Given the description of an element on the screen output the (x, y) to click on. 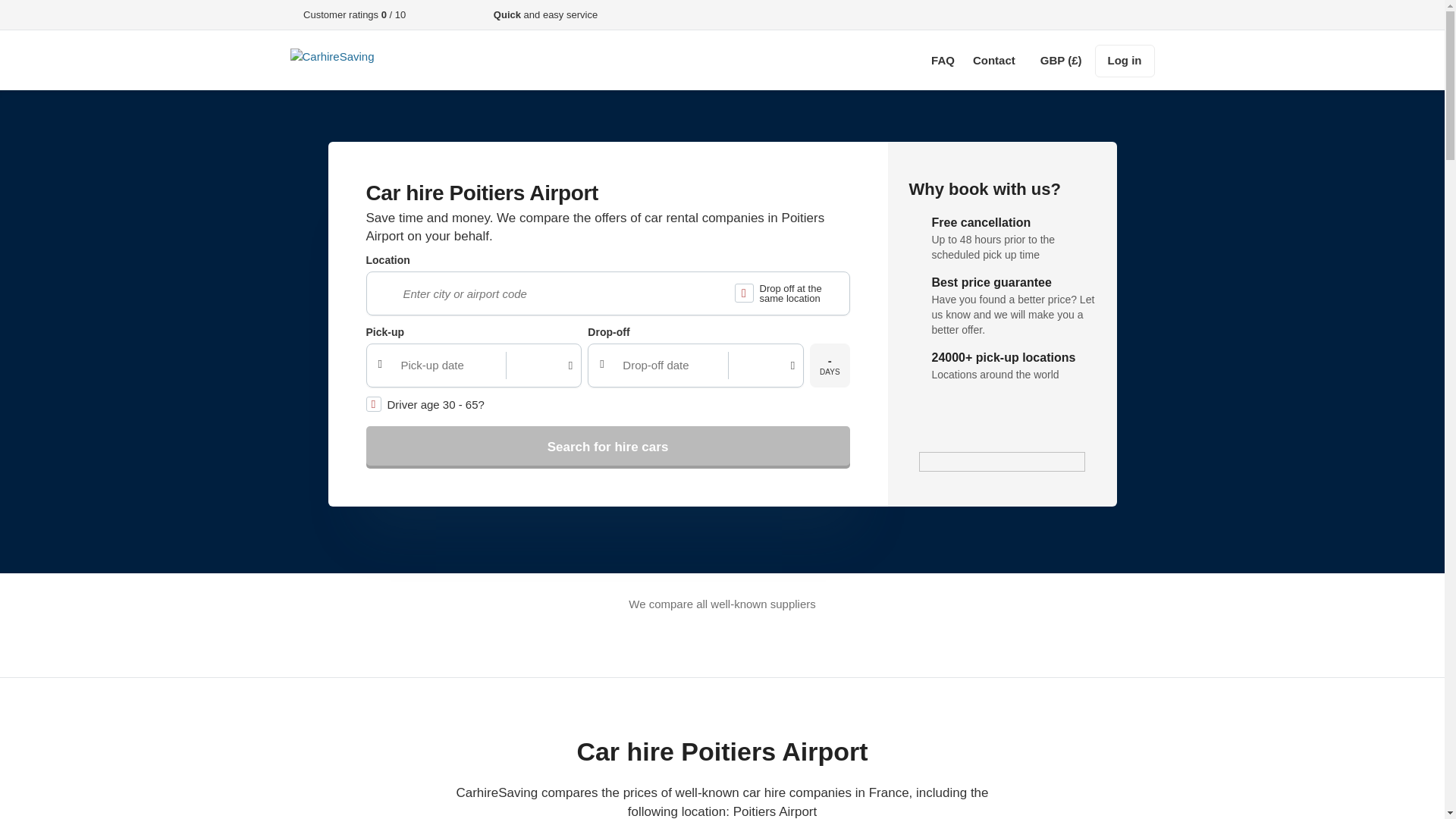
check-circle-solid (916, 222)
star-solid (424, 14)
FAQ (943, 60)
star-solid (435, 14)
Search for hire cars (606, 446)
star-solid (456, 14)
star-solid (414, 14)
check-solid (483, 14)
Contact (993, 60)
check-solid (293, 14)
star-solid (446, 14)
check-circle-solid (916, 282)
check-circle-solid (916, 357)
